Given the description of an element on the screen output the (x, y) to click on. 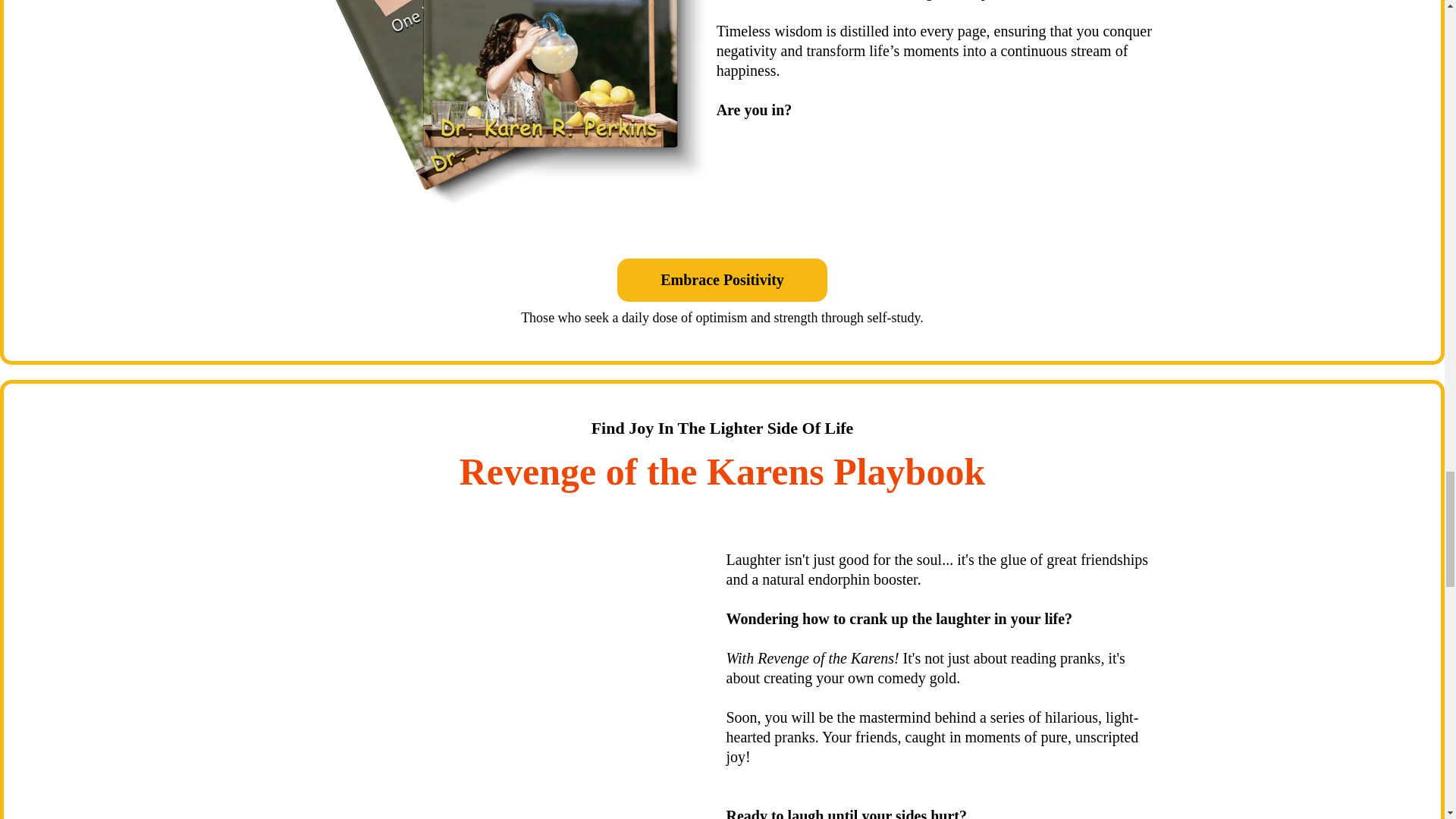
Embrace Positivity (722, 280)
